Given the description of an element on the screen output the (x, y) to click on. 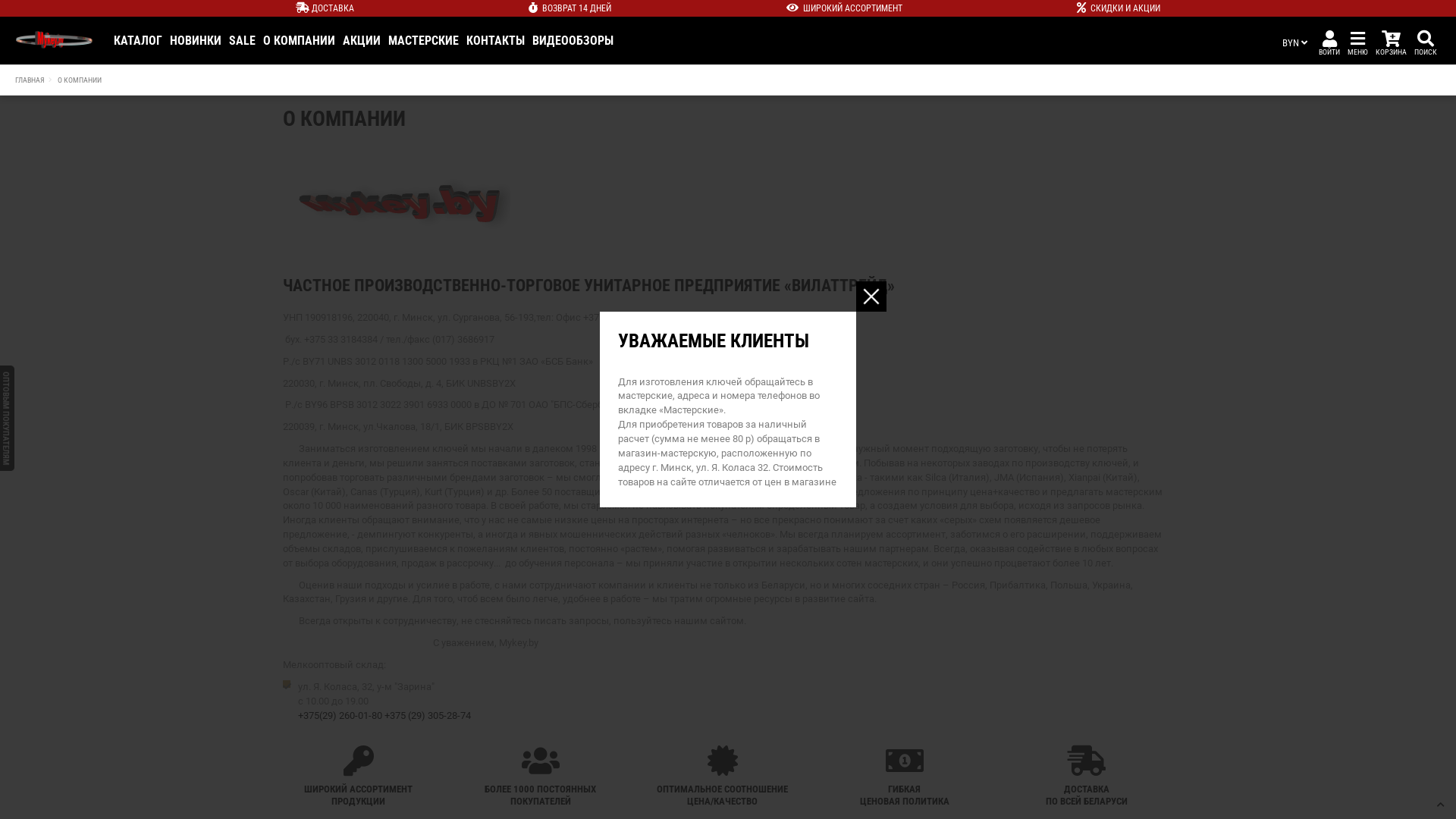
SALE Element type: text (242, 40)
+375(29) 260-01-80 Element type: text (339, 715)
+375 (29) 305-28-74 Element type: text (426, 715)
Close Element type: hover (871, 296)
